Given the description of an element on the screen output the (x, y) to click on. 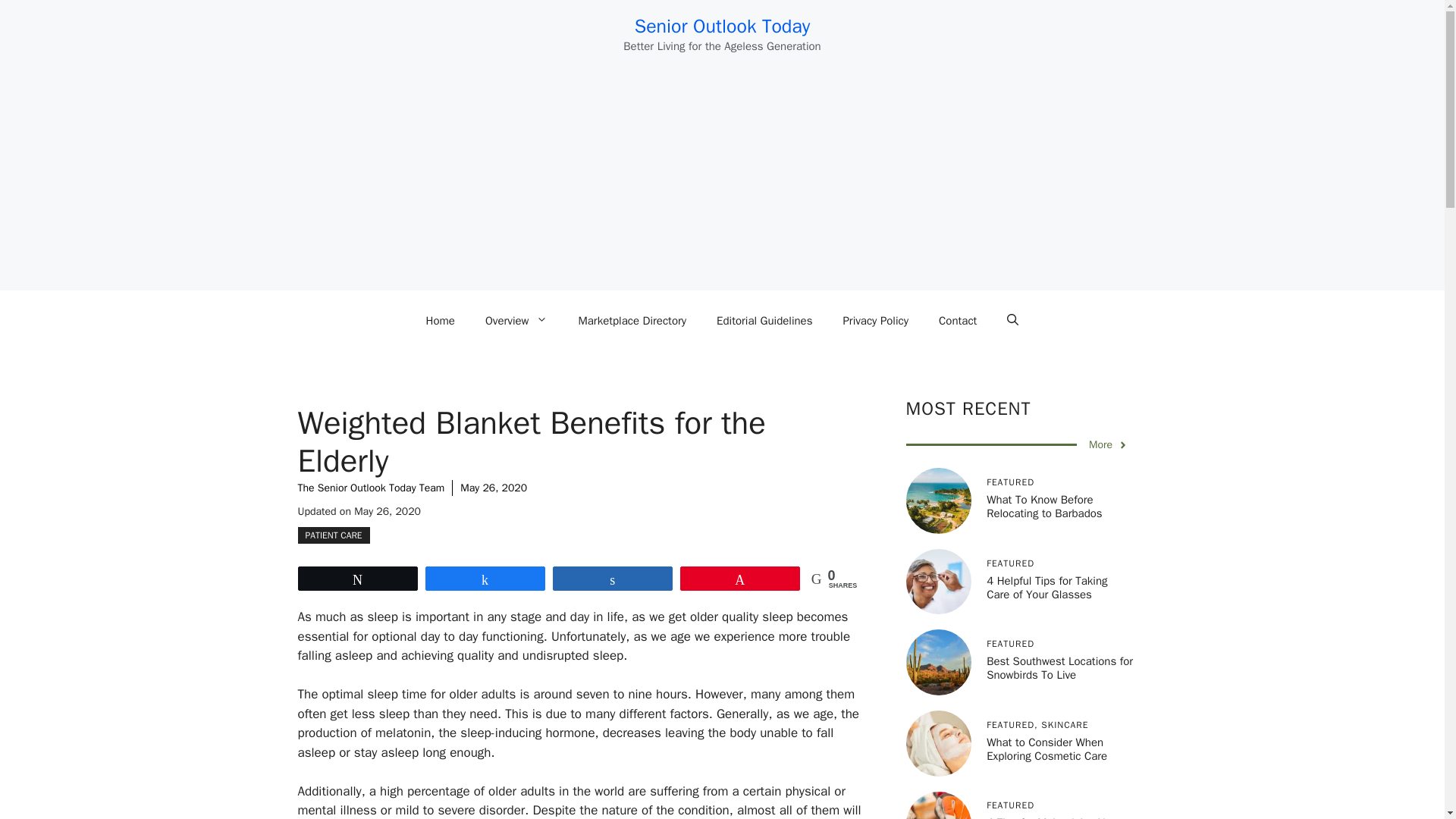
Best Southwest Locations for Snowbirds To Live (1059, 667)
Editorial Guidelines (764, 320)
Marketplace Directory (631, 320)
Overview (516, 320)
4 Helpful Tips for Taking Care of Your Glasses (1046, 587)
The Senior Outlook Today Team (370, 487)
What to Consider When Exploring Cosmetic Care (1046, 748)
Home (440, 320)
Privacy Policy (875, 320)
What To Know Before Relocating to Barbados (1044, 506)
